Given the description of an element on the screen output the (x, y) to click on. 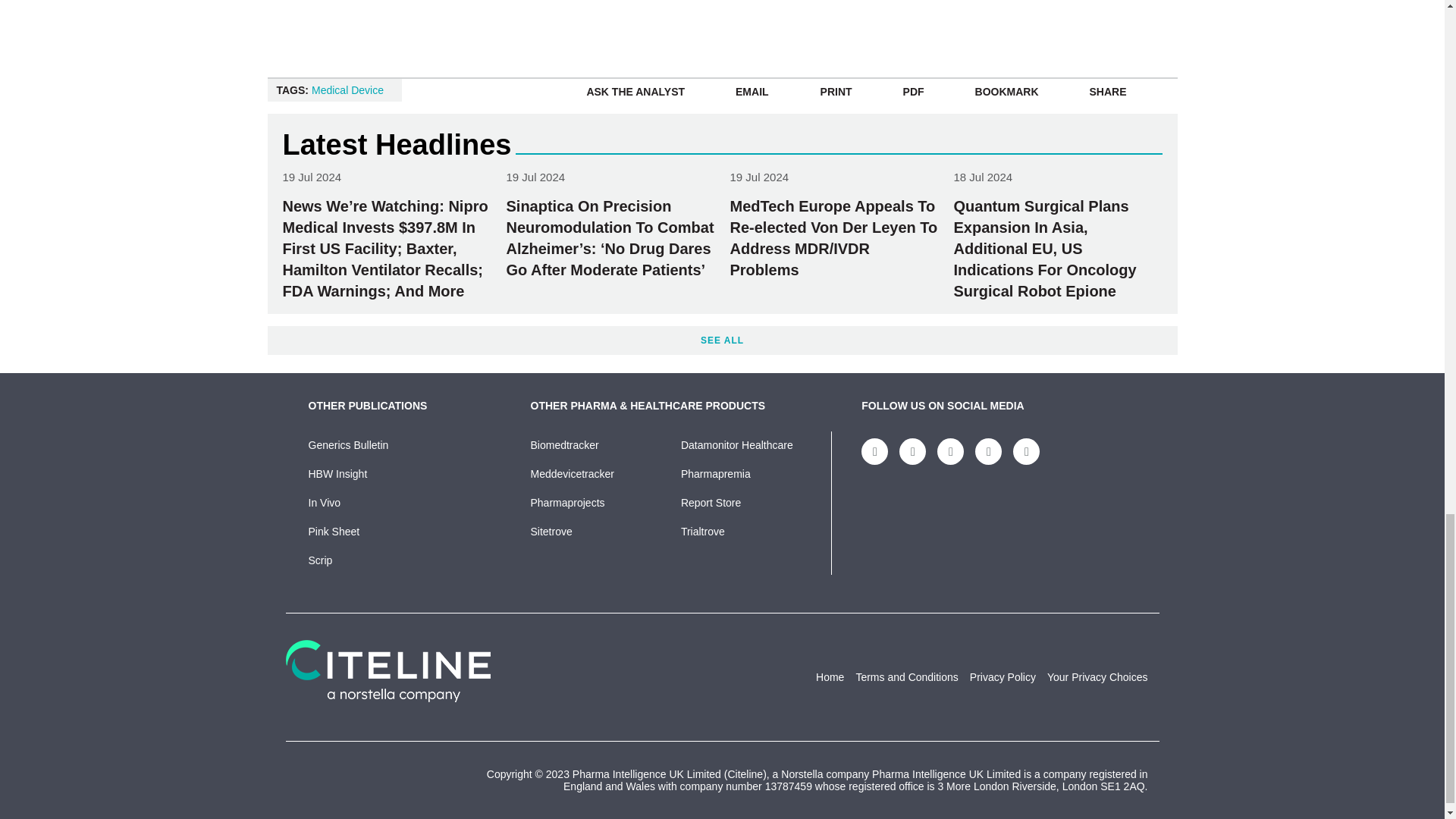
3rd party ad content (1070, 20)
